Given the description of an element on the screen output the (x, y) to click on. 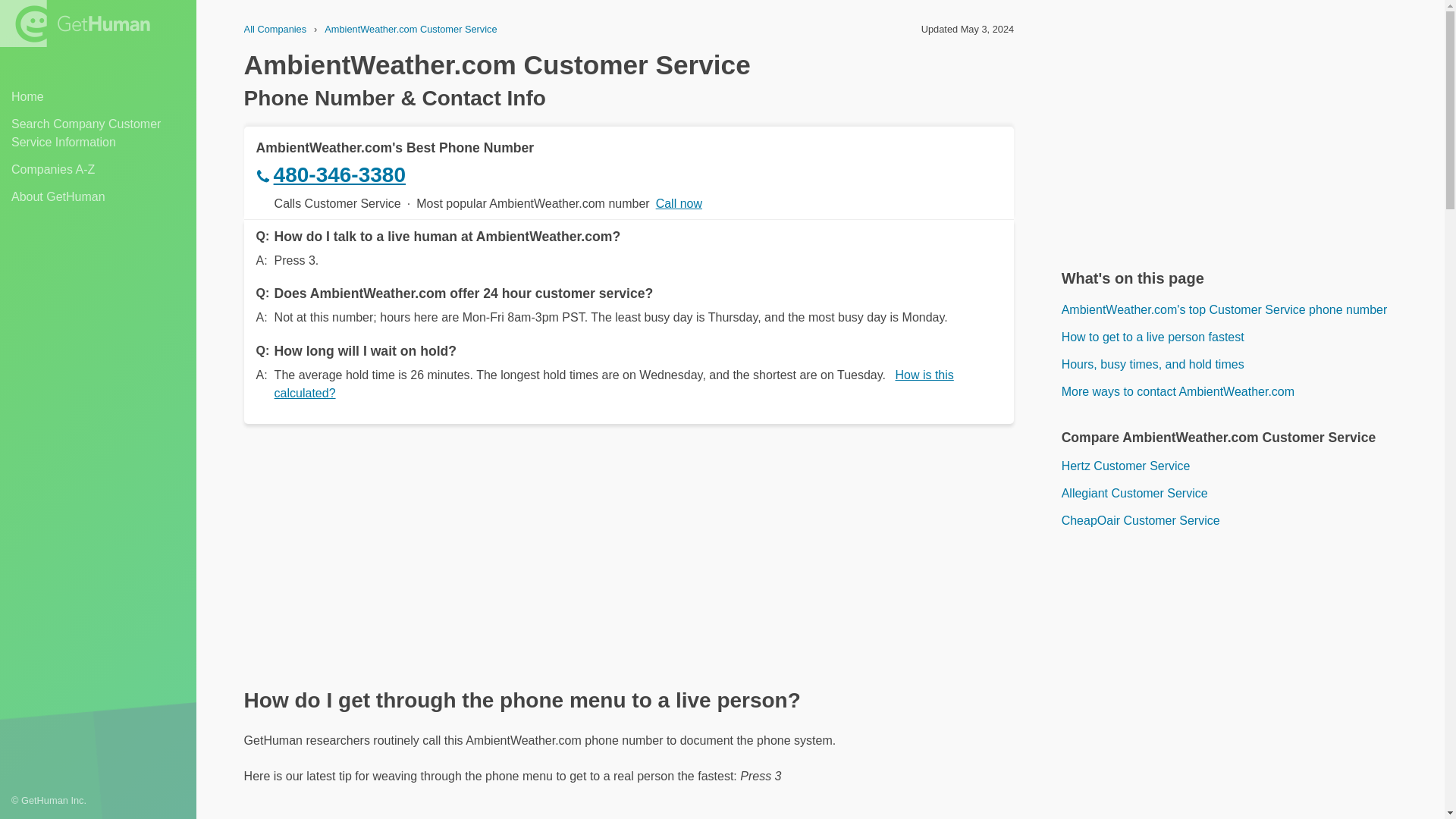
GetHuman (74, 23)
All Companies (275, 29)
More ways to contact AmbientWeather.com (1238, 392)
Advertisement (1238, 136)
Advertisement (1238, 688)
Companies A-Z (97, 169)
Allegiant Customer Service (1238, 493)
How to get to a live person fastest (1238, 337)
Call now (678, 203)
